Given the description of an element on the screen output the (x, y) to click on. 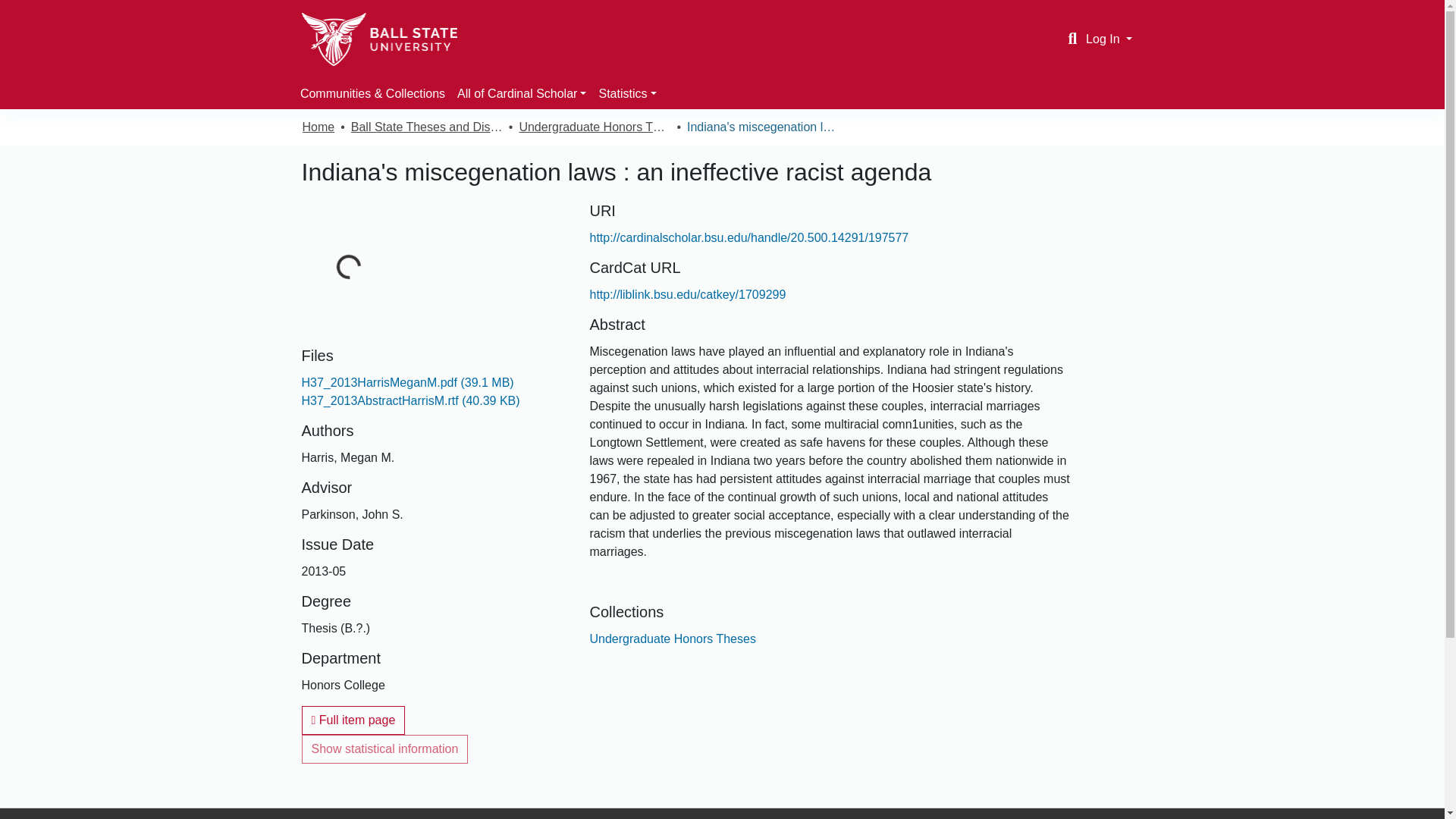
Undergraduate Honors Theses (672, 638)
Home (317, 126)
Undergraduate Honors Theses (593, 126)
Full item page (353, 719)
Search (1072, 39)
Log In (1108, 38)
Show statistical information (384, 748)
All of Cardinal Scholar (521, 93)
Statistics (627, 93)
Ball State Theses and Dissertations (426, 126)
